Given the description of an element on the screen output the (x, y) to click on. 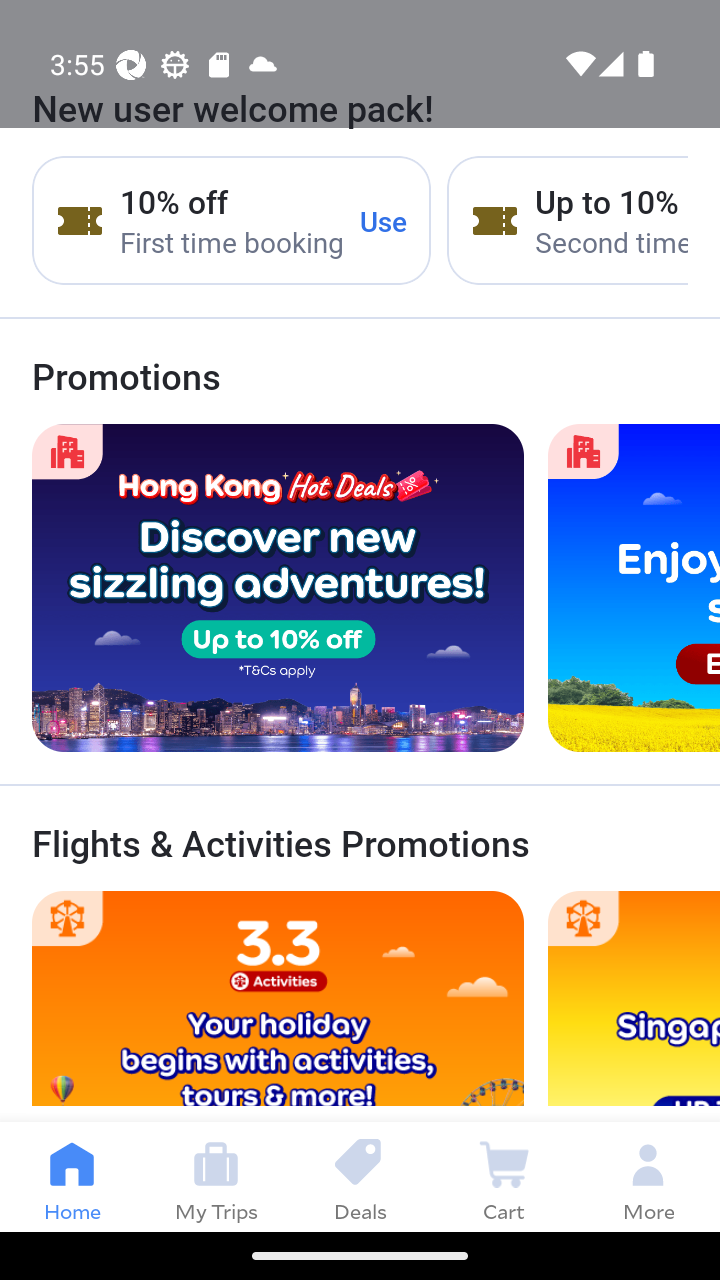
Use (384, 220)
Home (72, 1176)
My Trips (216, 1176)
Deals (360, 1176)
Cart (504, 1176)
More (648, 1176)
